Given the description of an element on the screen output the (x, y) to click on. 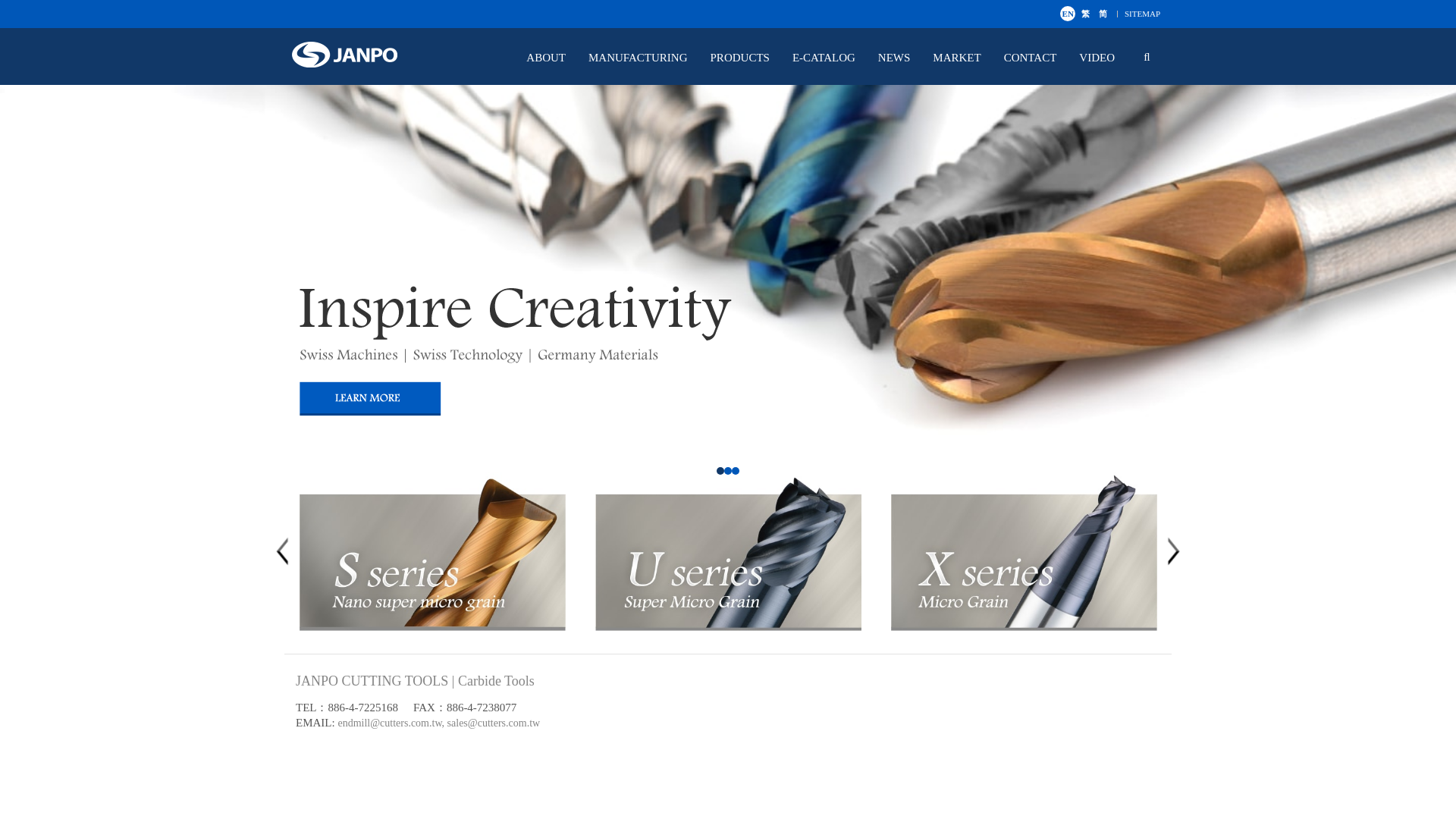
MARKET (963, 57)
CONTACT (1037, 57)
PRODUCTS (747, 57)
ABOUT (553, 57)
MANUFACTURING (645, 57)
NEWS (902, 57)
SITEMAP (1142, 13)
EN (1067, 13)
VIDEO (1104, 57)
E-CATALOG (832, 57)
